Given the description of an element on the screen output the (x, y) to click on. 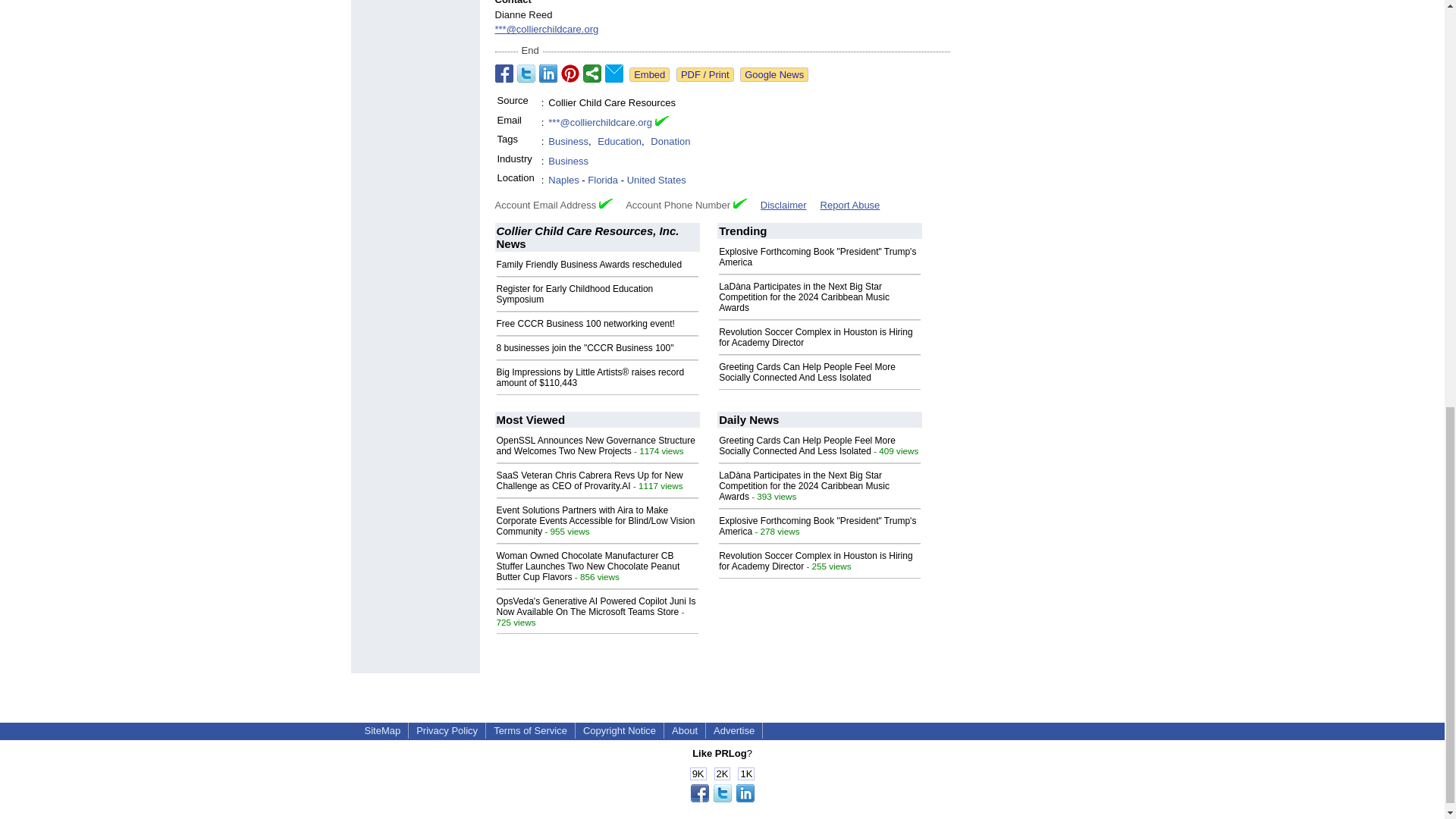
Share on Facebook (503, 73)
Share on StumbleUpon, Digg, etc (590, 73)
Verified (605, 203)
Share this page! (722, 798)
Share on Twitter (525, 73)
Email Verified (661, 122)
Embed (648, 74)
Embed this press release in your website! (648, 74)
Share on LinkedIn (547, 73)
See or print the PDF version! (705, 74)
Email to a Friend (614, 73)
Verified (739, 203)
Share on Pinterest (569, 73)
